Given the description of an element on the screen output the (x, y) to click on. 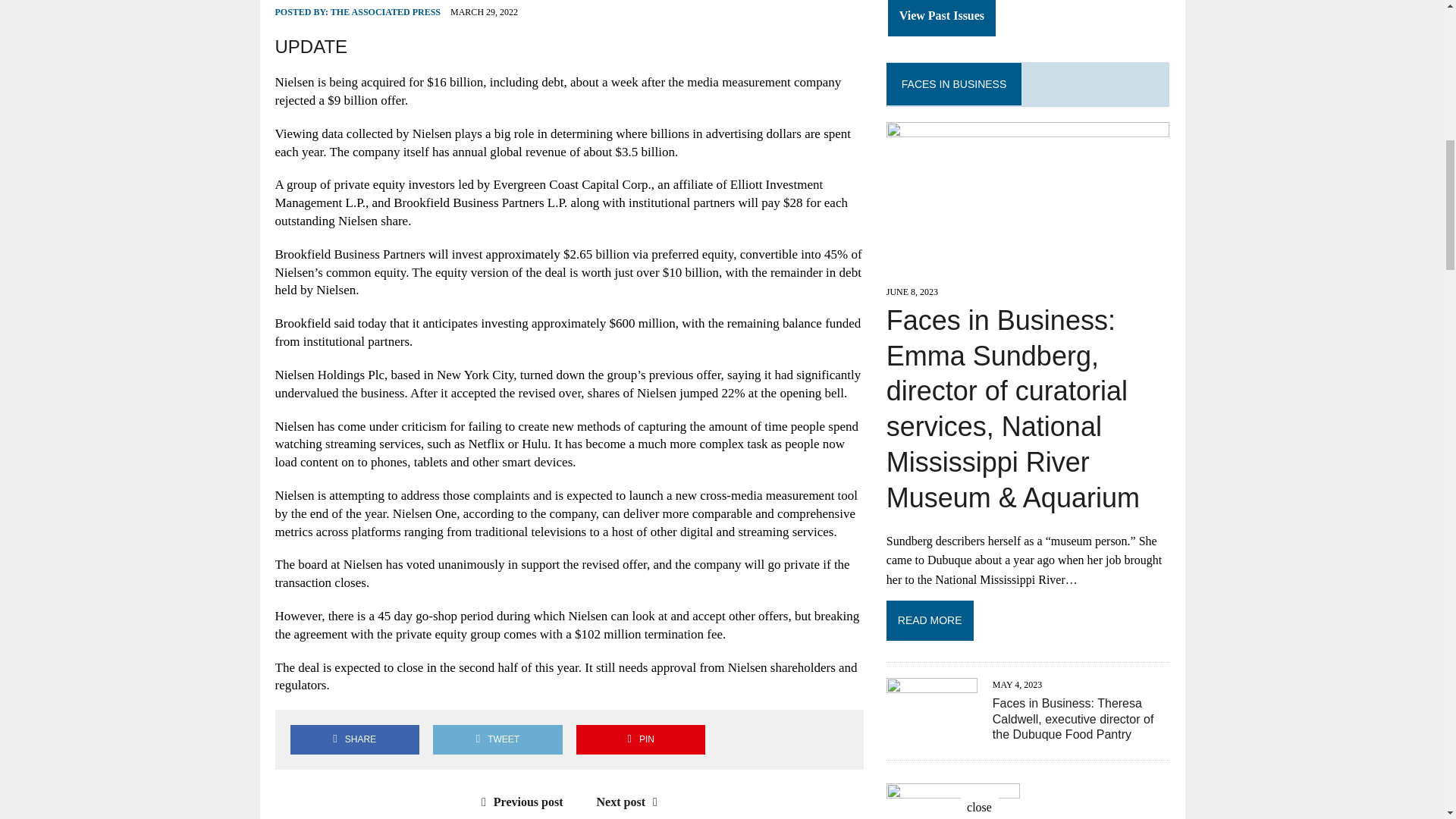
Pin This Post (640, 739)
TWEET (497, 739)
Next post (630, 801)
Previous post (518, 801)
PIN (640, 739)
View Past Issues (941, 18)
THE ASSOCIATED PRESS (385, 11)
Tweet This Post (497, 739)
FACES IN BUSINESS (953, 83)
